Given the description of an element on the screen output the (x, y) to click on. 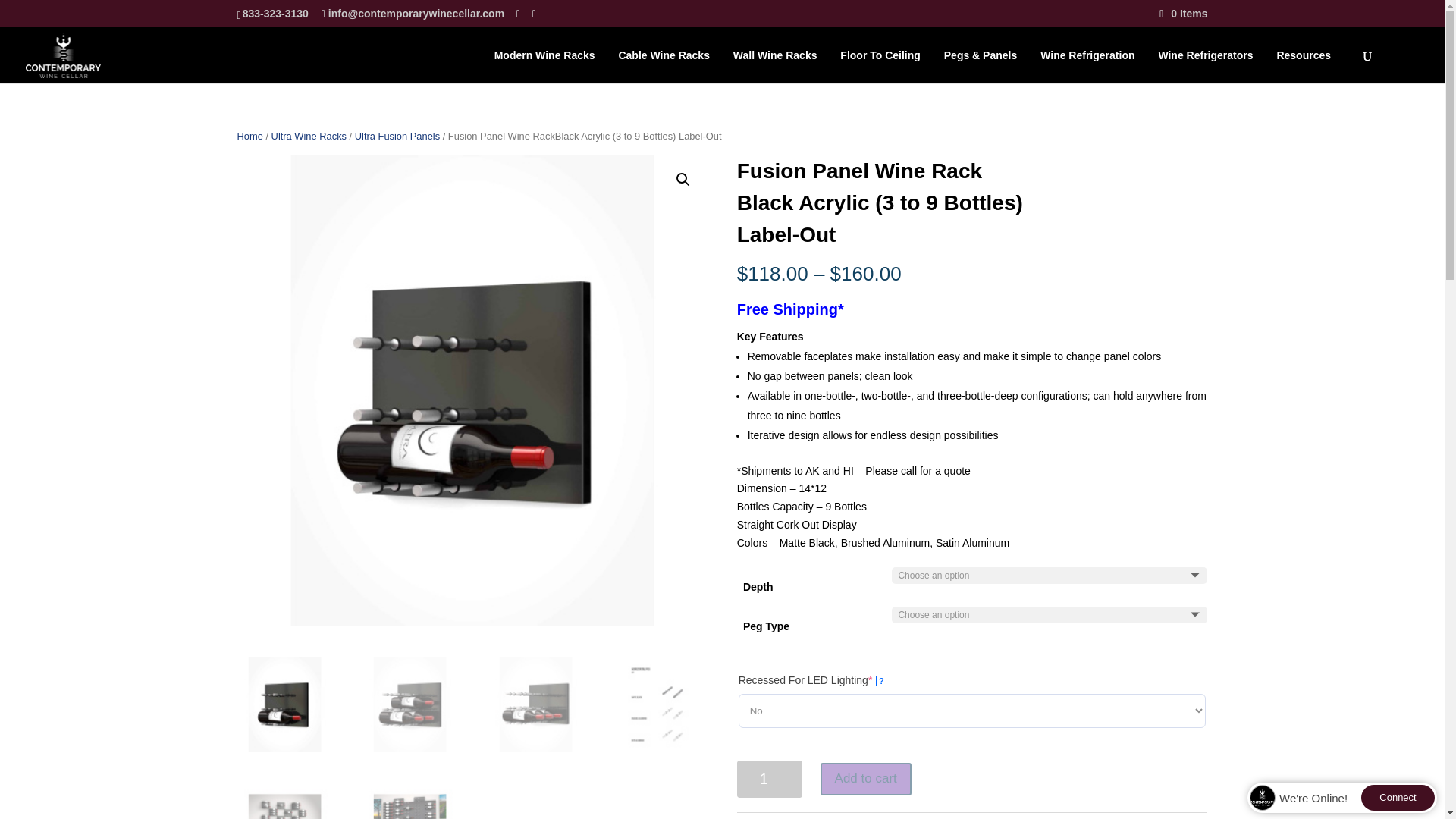
1 (769, 778)
Floor To Ceiling (888, 66)
Wall Wine Racks (782, 66)
0 Items (1182, 13)
Modern Wine Racks (552, 66)
Cable Wine Racks (670, 66)
